Given the description of an element on the screen output the (x, y) to click on. 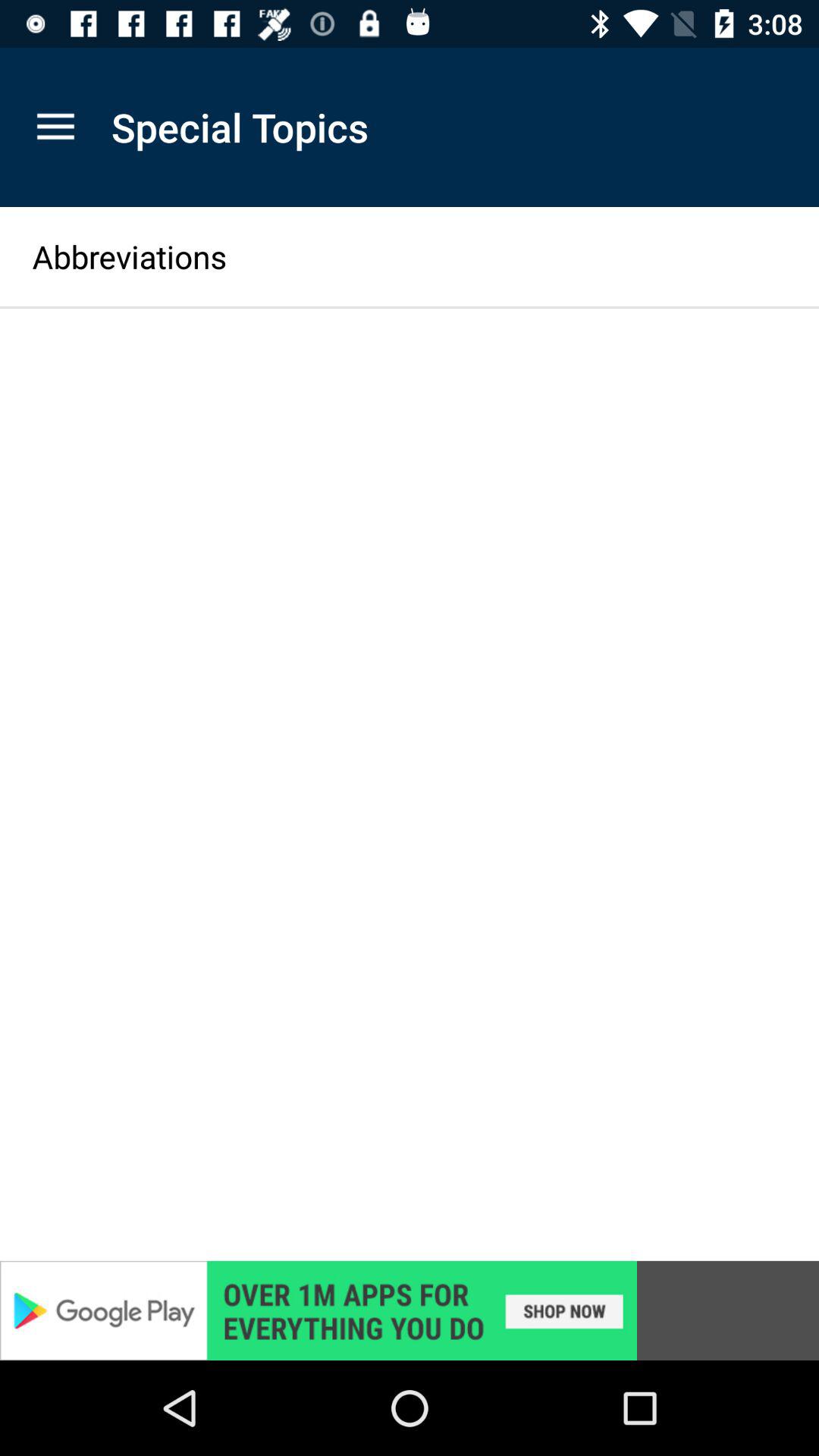
google play (409, 1310)
